Given the description of an element on the screen output the (x, y) to click on. 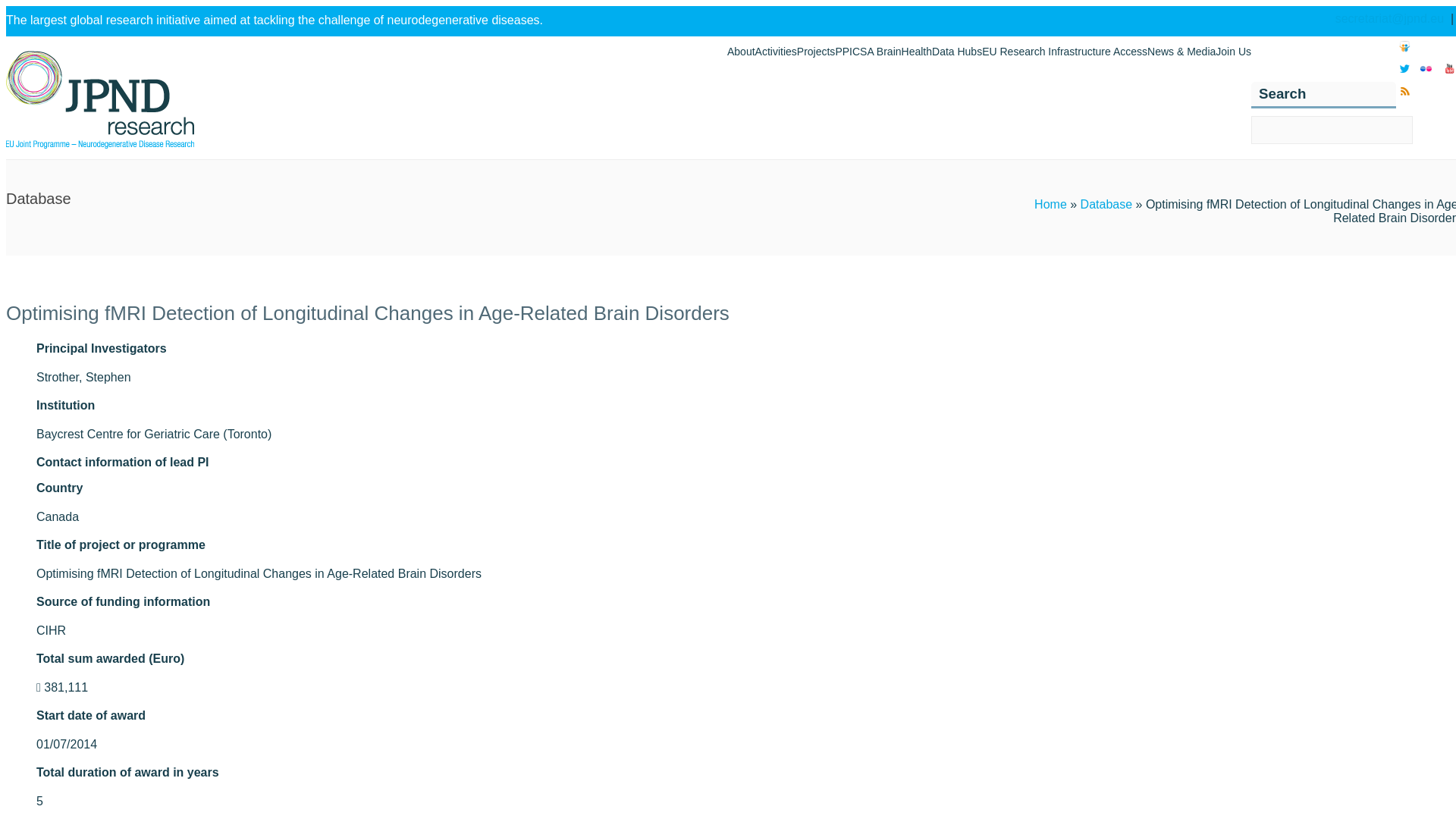
Join Us (1232, 51)
twitter (1404, 72)
rss (1404, 95)
EU Research Infrastructure Access (1064, 51)
Projects (815, 51)
slideshare (1404, 50)
Search (21, 7)
CSA BrainHealth (891, 51)
Activities (775, 51)
About (740, 51)
Data Hubs (956, 51)
flickr (1425, 72)
